Given the description of an element on the screen output the (x, y) to click on. 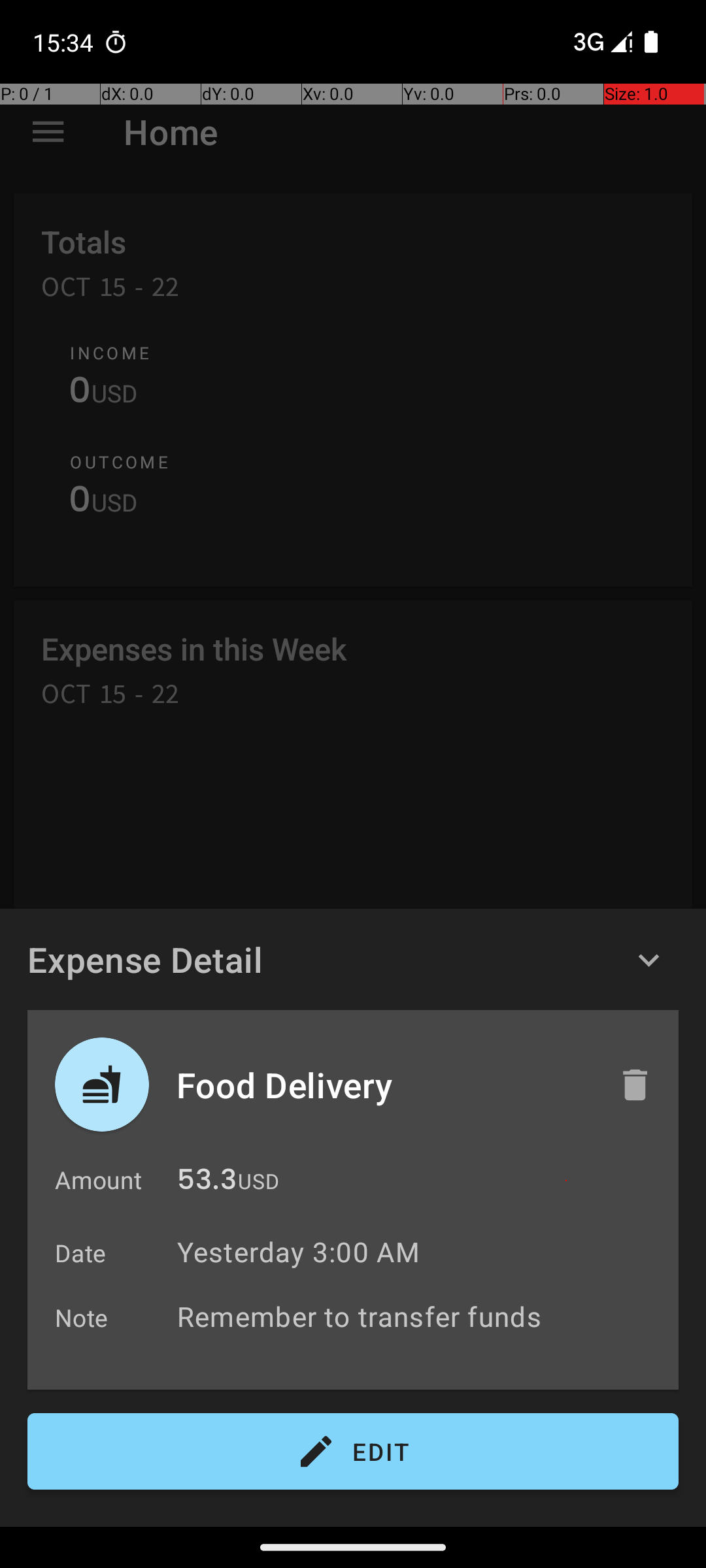
Food Delivery Element type: android.widget.TextView (383, 1084)
53.3 Element type: android.widget.TextView (206, 1182)
Yesterday 3:00 AM Element type: android.widget.TextView (298, 1251)
